Given the description of an element on the screen output the (x, y) to click on. 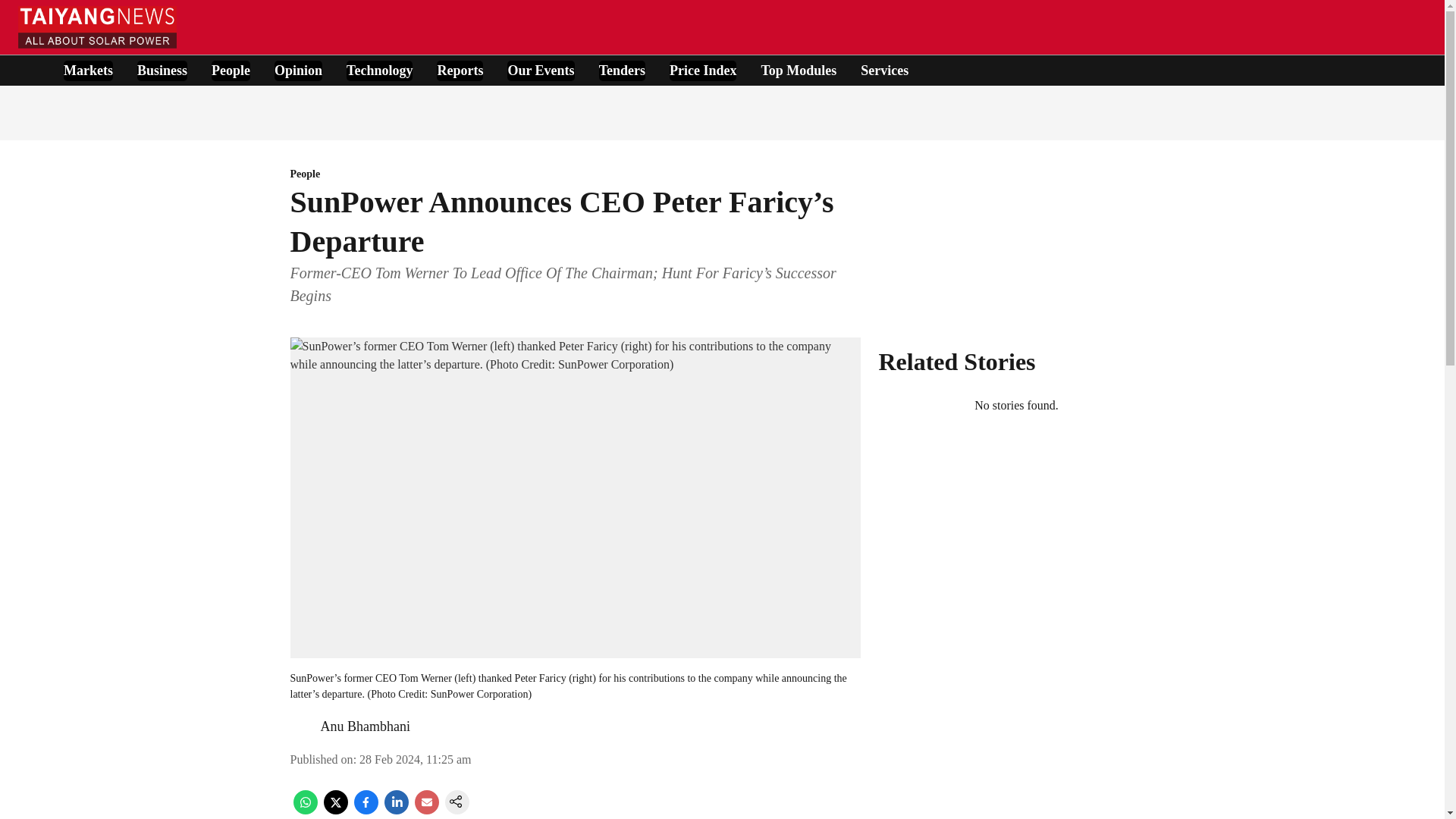
Anu Bhambhani (365, 726)
People (230, 70)
Technology (379, 70)
Reports (459, 70)
Our Events (539, 70)
Business (161, 70)
Markets (88, 70)
People (574, 174)
2024-02-28 11:25 (414, 758)
